Given the description of an element on the screen output the (x, y) to click on. 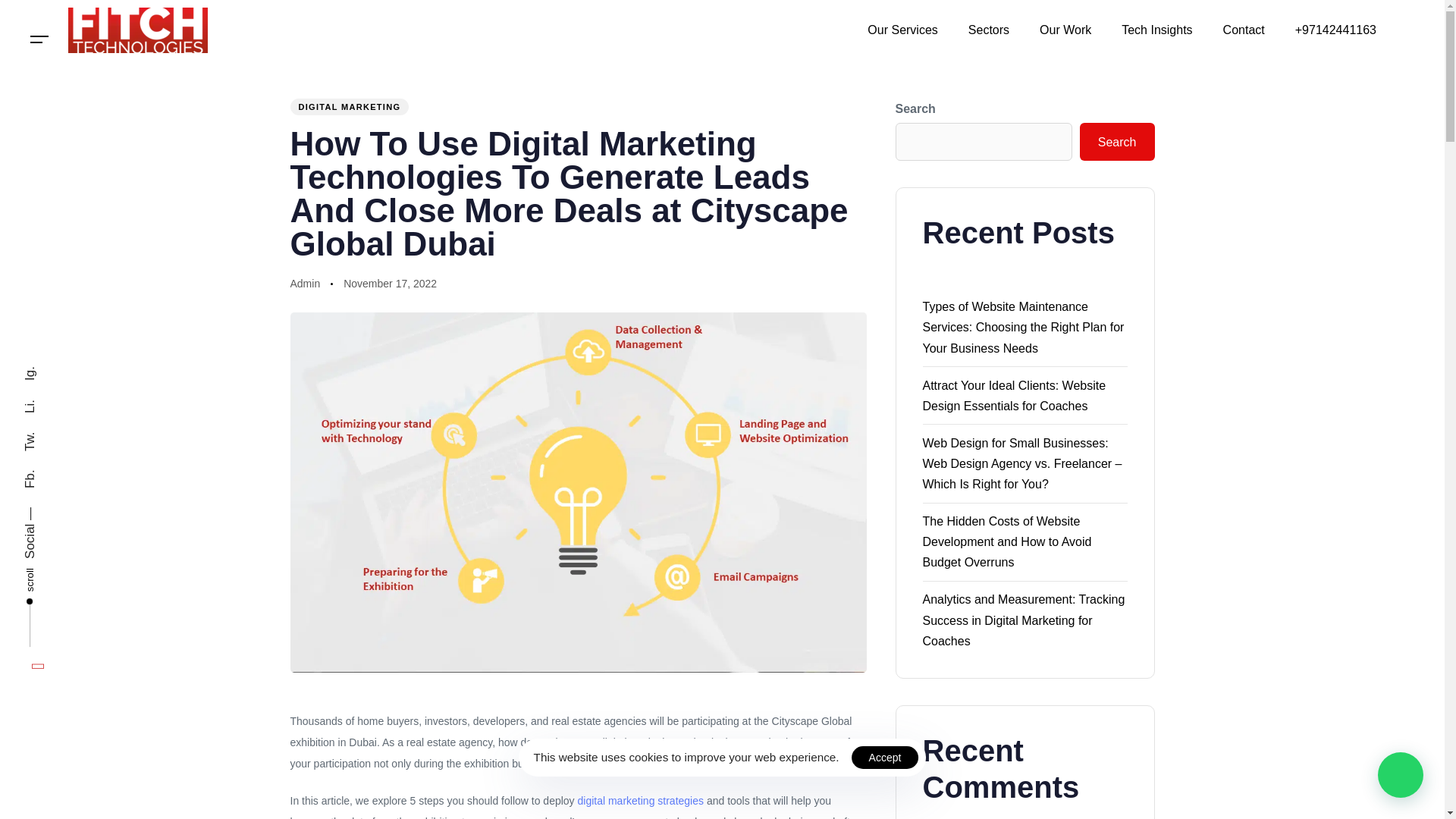
Contact (1243, 30)
Posts by Admin (304, 283)
Sectors (989, 30)
Tech Insights (1156, 30)
Our Work (1065, 30)
Our Services (901, 30)
